Given the description of an element on the screen output the (x, y) to click on. 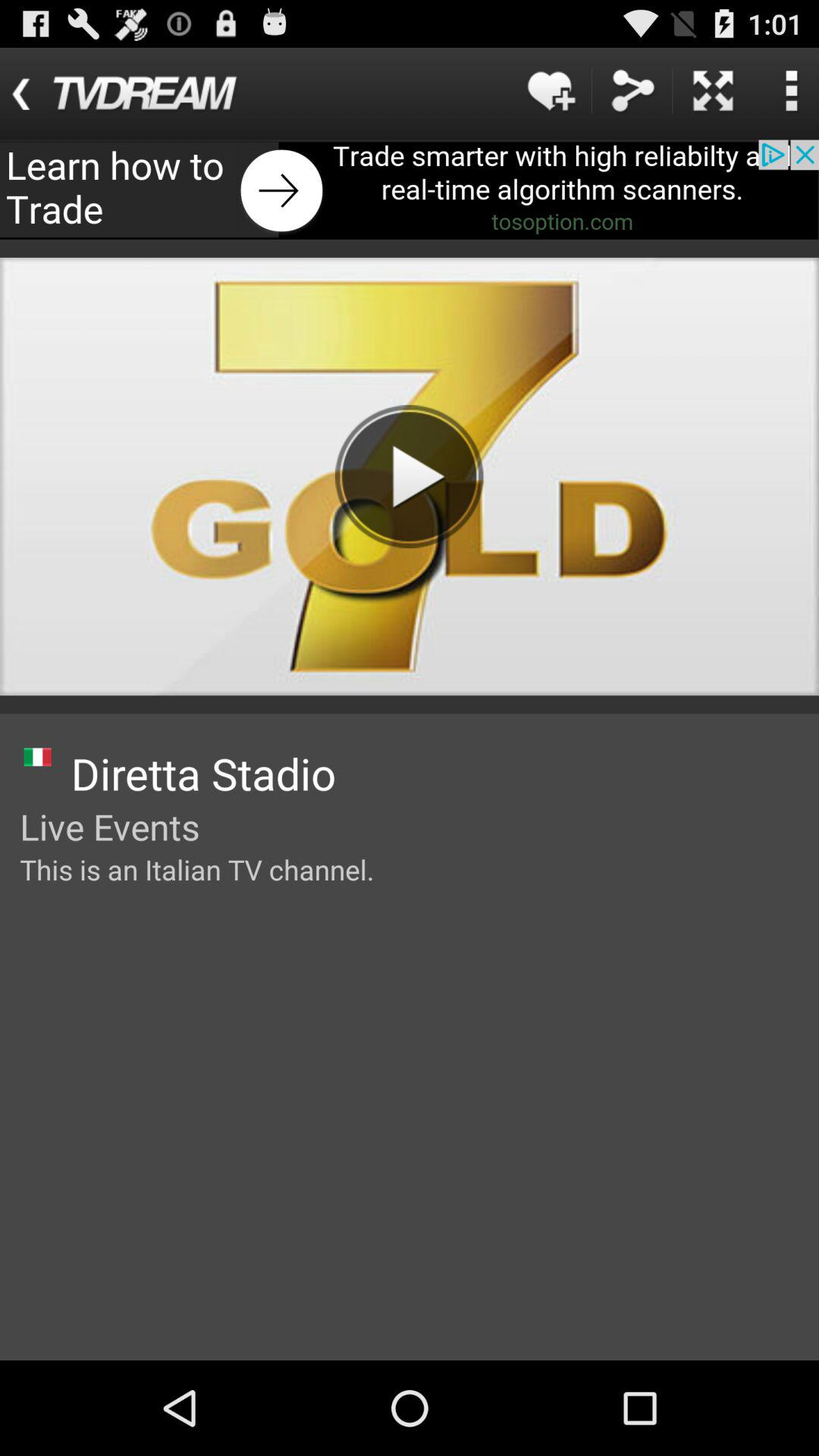
expand page to fullscreen (712, 90)
